Given the description of an element on the screen output the (x, y) to click on. 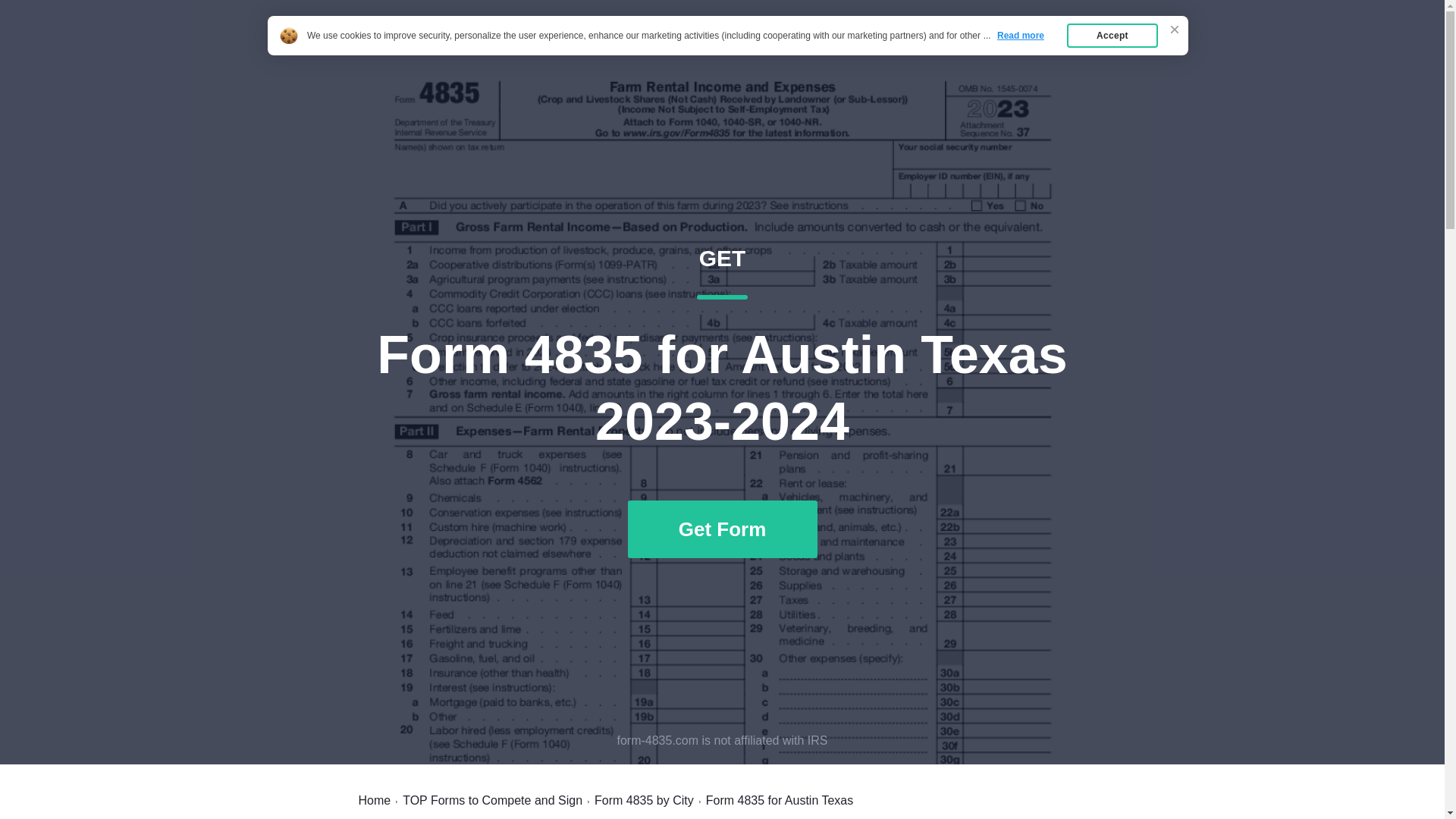
Top Forms (1062, 47)
Home (987, 47)
Home (374, 800)
Form 4835 (492, 800)
Form 4835 by City (397, 46)
